Given the description of an element on the screen output the (x, y) to click on. 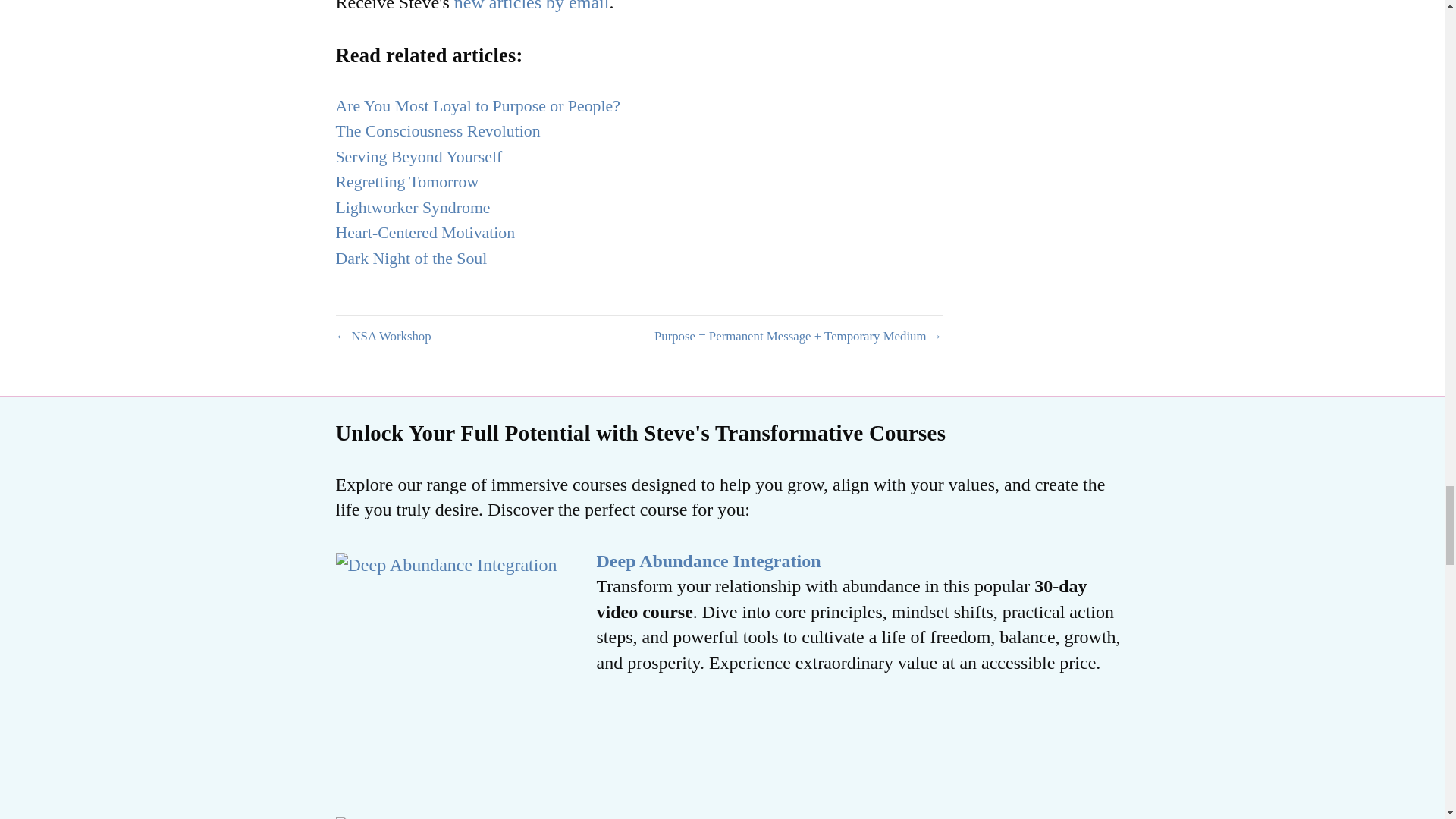
Are You Most Loyal to Purpose or People? (477, 106)
Lightworker Syndrome (411, 208)
Regretting Tomorrow (406, 181)
Dark Night of the Soul (410, 258)
Heart-Centered Motivation (424, 232)
The Consciousness Revolution (437, 131)
Serving Beyond Yourself (418, 157)
